Given the description of an element on the screen output the (x, y) to click on. 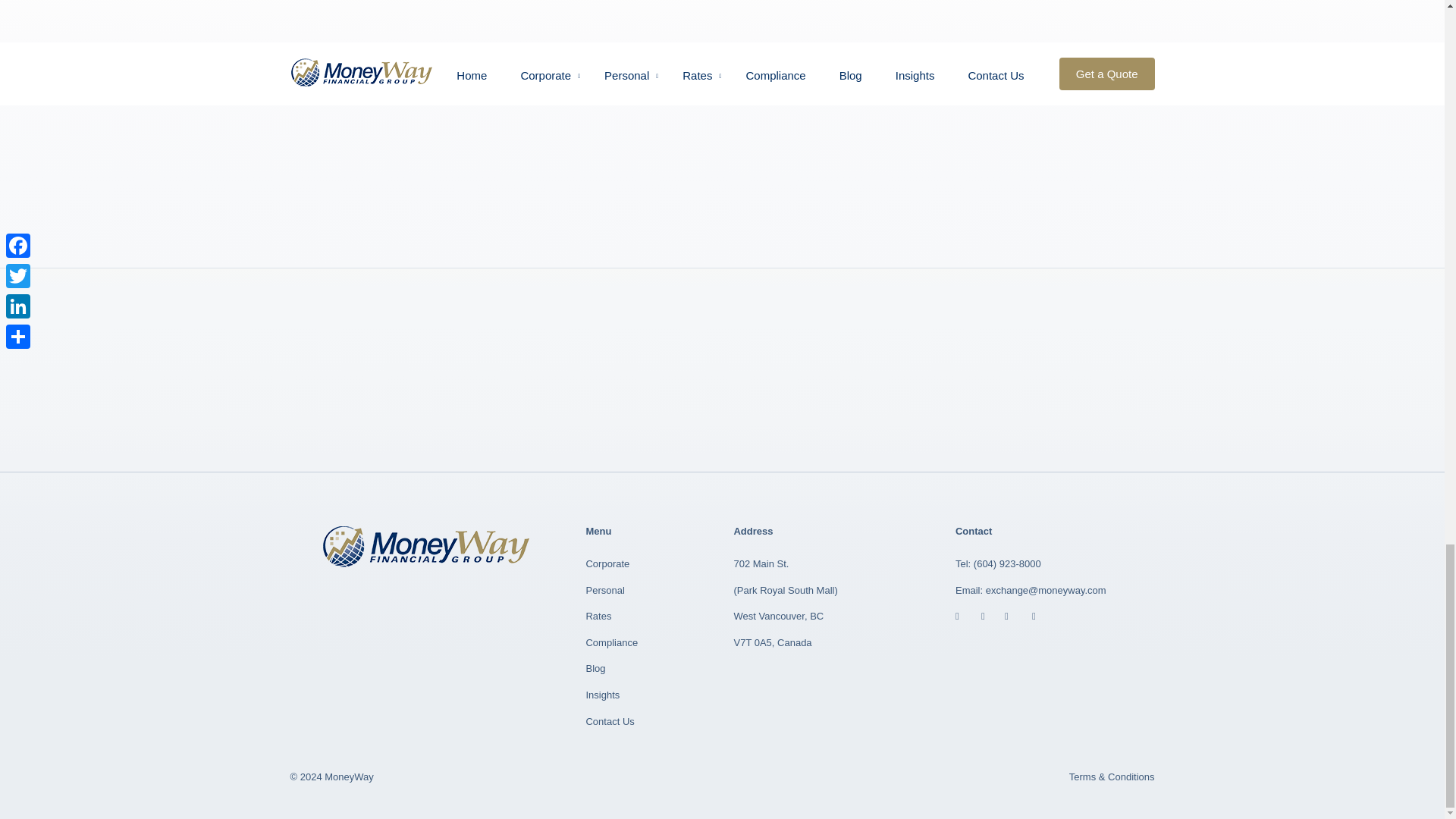
Contact Us (609, 721)
Insights (602, 695)
Corporate (606, 563)
Personal (604, 590)
Blog (595, 668)
Compliance (611, 642)
Rates (598, 615)
Sign Up (984, 160)
